Given the description of an element on the screen output the (x, y) to click on. 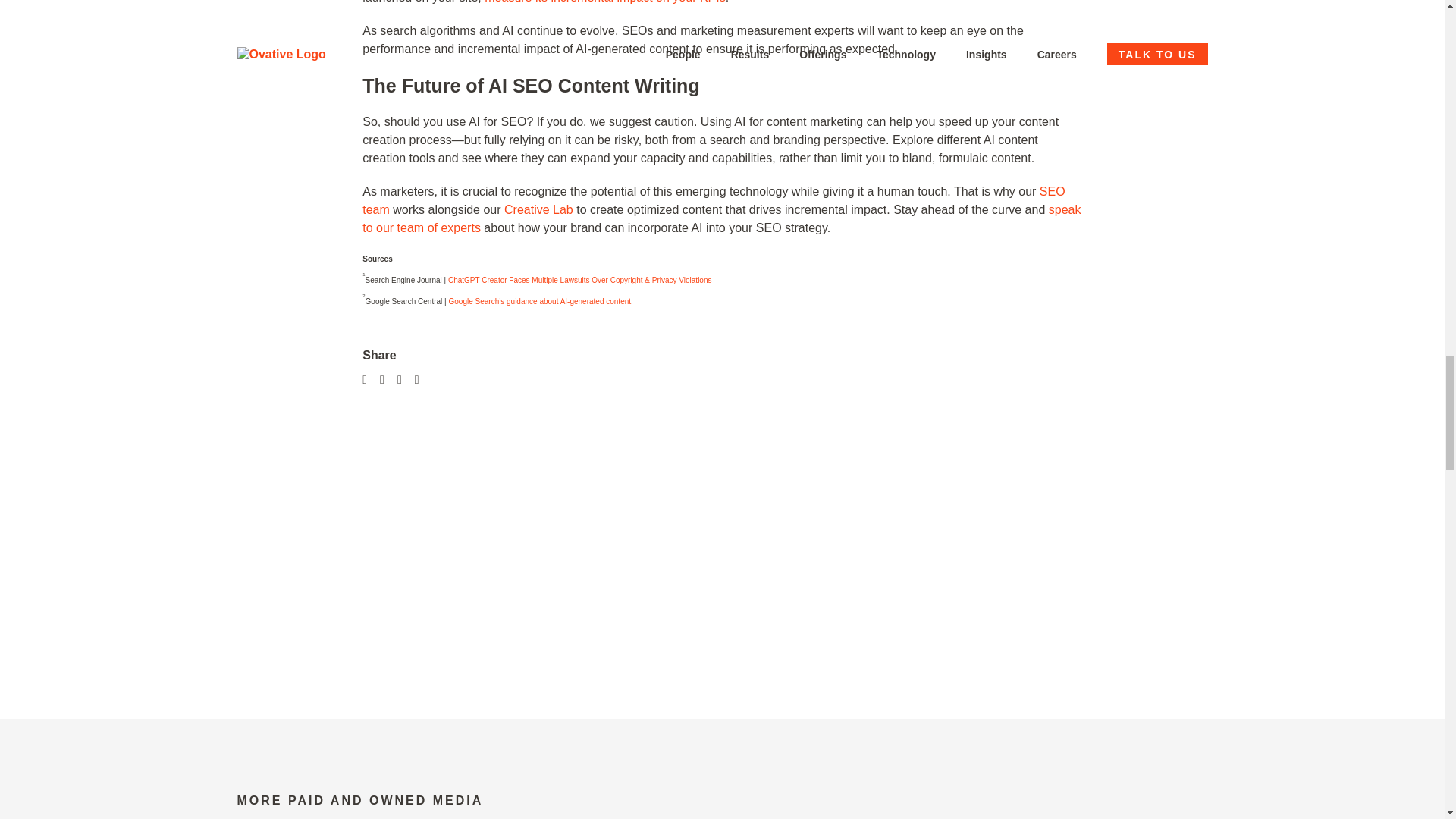
speak to our team of experts (721, 218)
measure its incremental impact on your KPIs (604, 2)
SEO team (713, 200)
Creative Lab (538, 209)
